Given the description of an element on the screen output the (x, y) to click on. 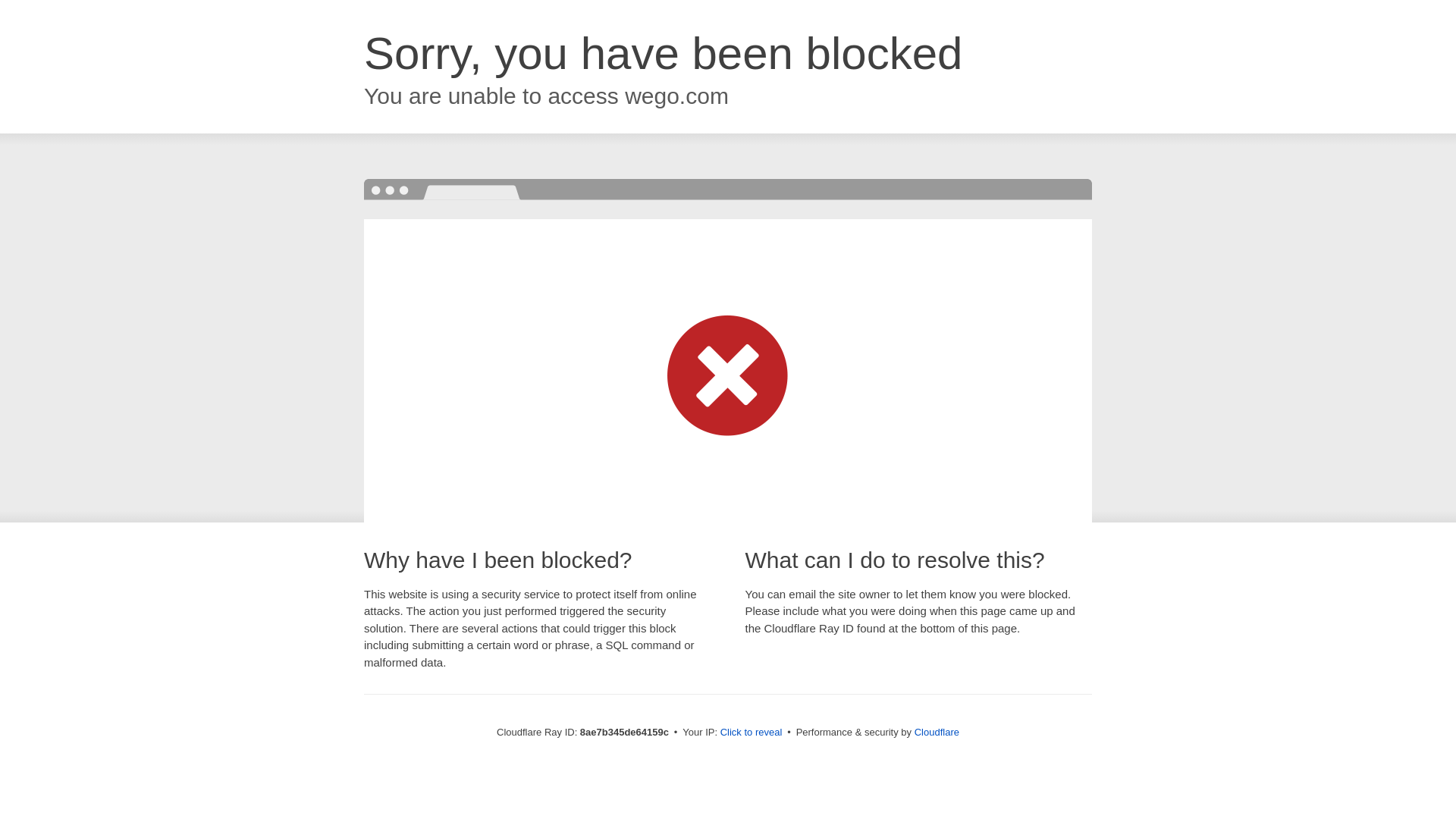
Cloudflare (936, 731)
Click to reveal (751, 732)
